Given the description of an element on the screen output the (x, y) to click on. 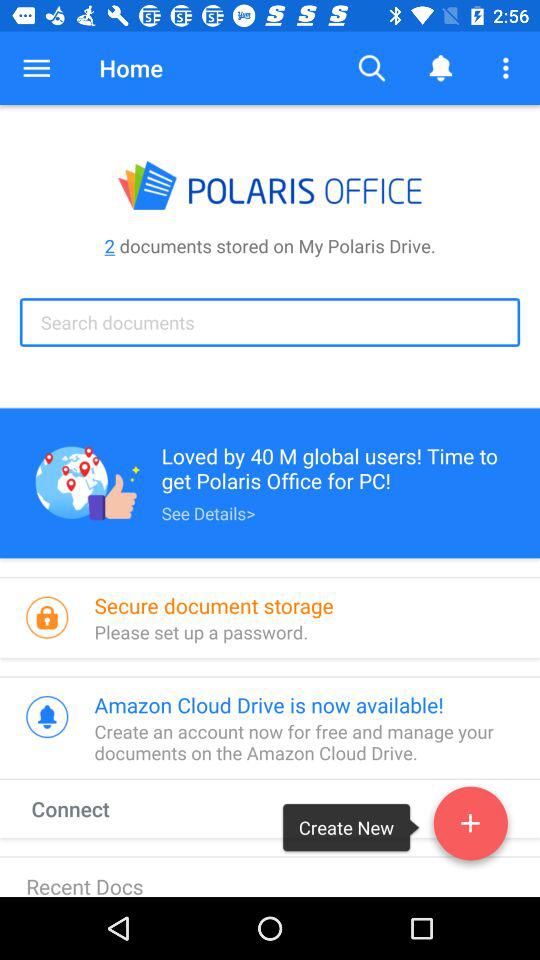
click icon next to the create new icon (470, 827)
